Given the description of an element on the screen output the (x, y) to click on. 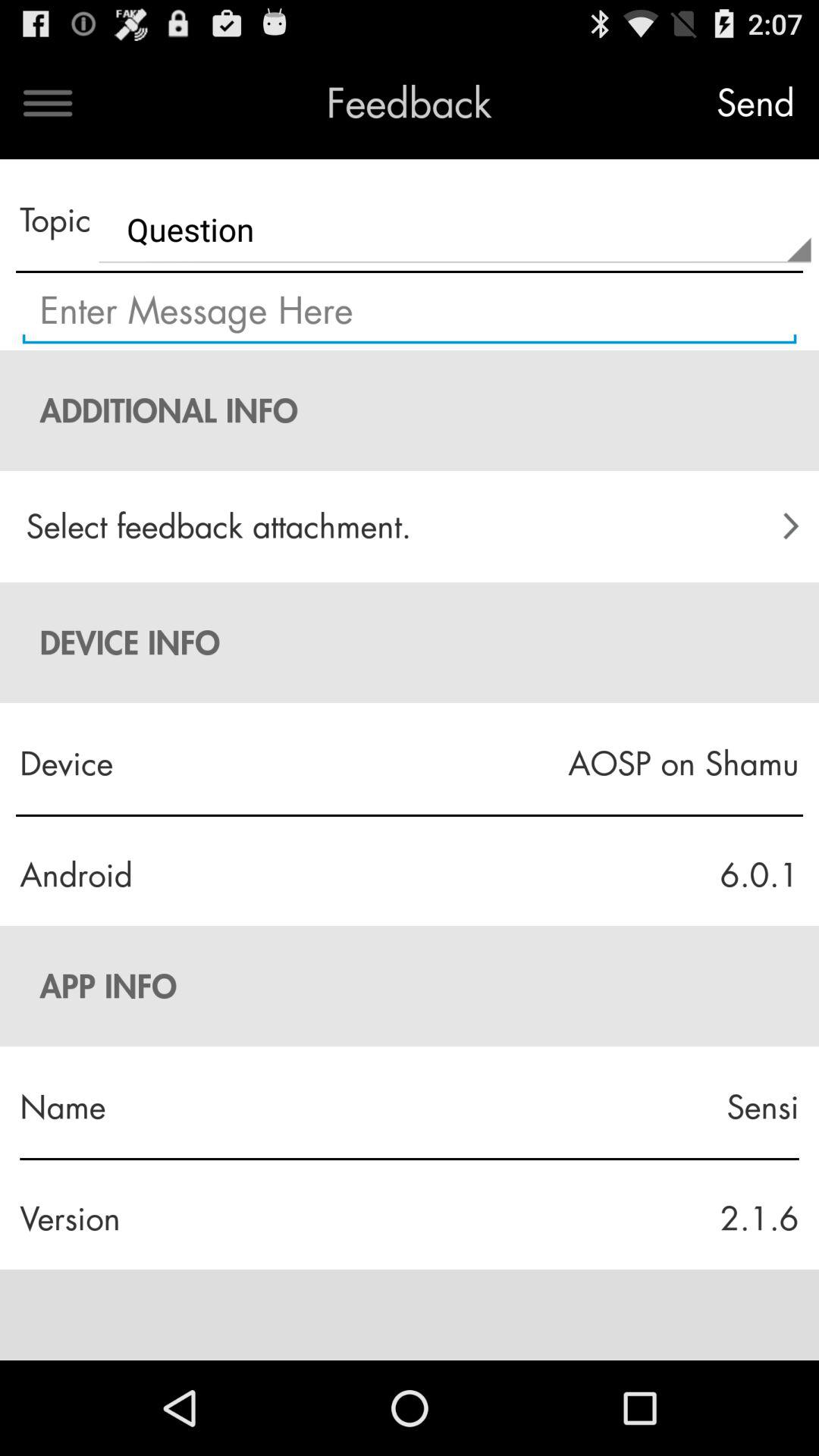
press the icon to the left of the feedback icon (47, 103)
